Given the description of an element on the screen output the (x, y) to click on. 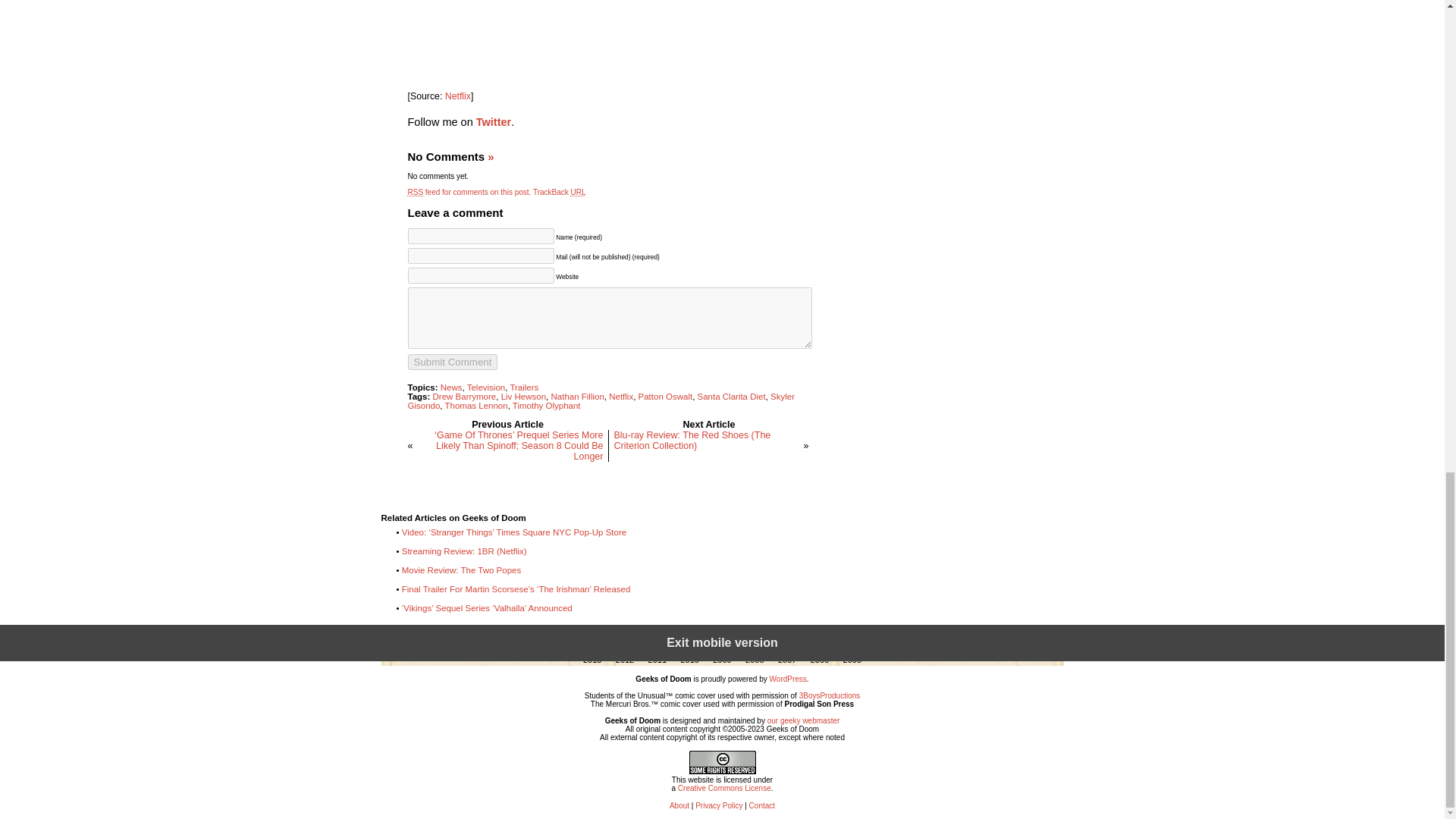
Santa Clarita Diet (731, 396)
Timothy Olyphant (546, 405)
YouTube video (608, 38)
Nathan Fillion (577, 396)
Netflix (620, 396)
Twitter (493, 121)
Submit Comment (452, 361)
TrackBack URL (559, 192)
Skyler Gisondo (600, 401)
Netflix (457, 95)
